Given the description of an element on the screen output the (x, y) to click on. 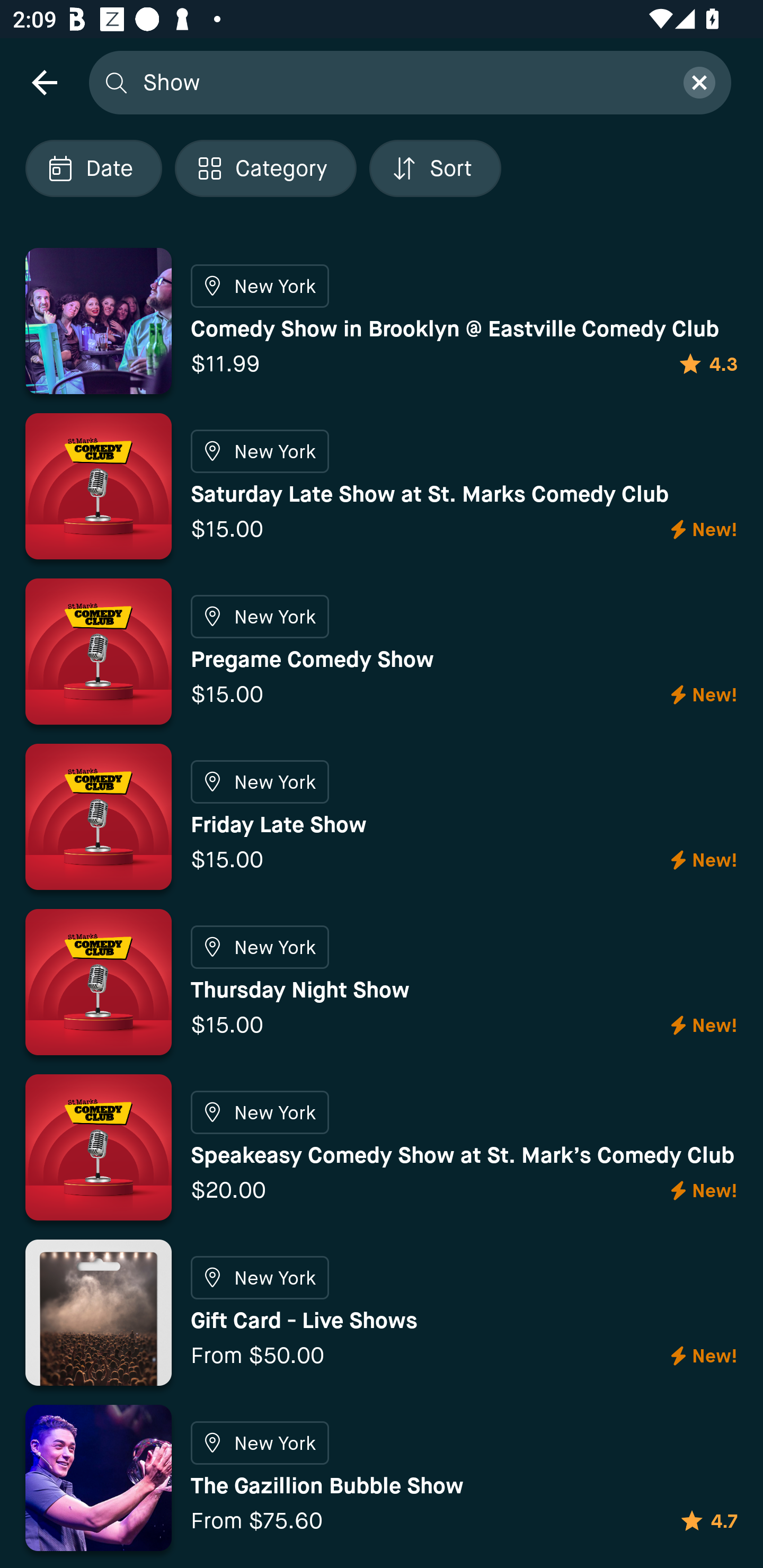
navigation icon (44, 81)
Show (402, 81)
Localized description Date (93, 168)
Localized description Category (265, 168)
Localized description Sort (435, 168)
